Given the description of an element on the screen output the (x, y) to click on. 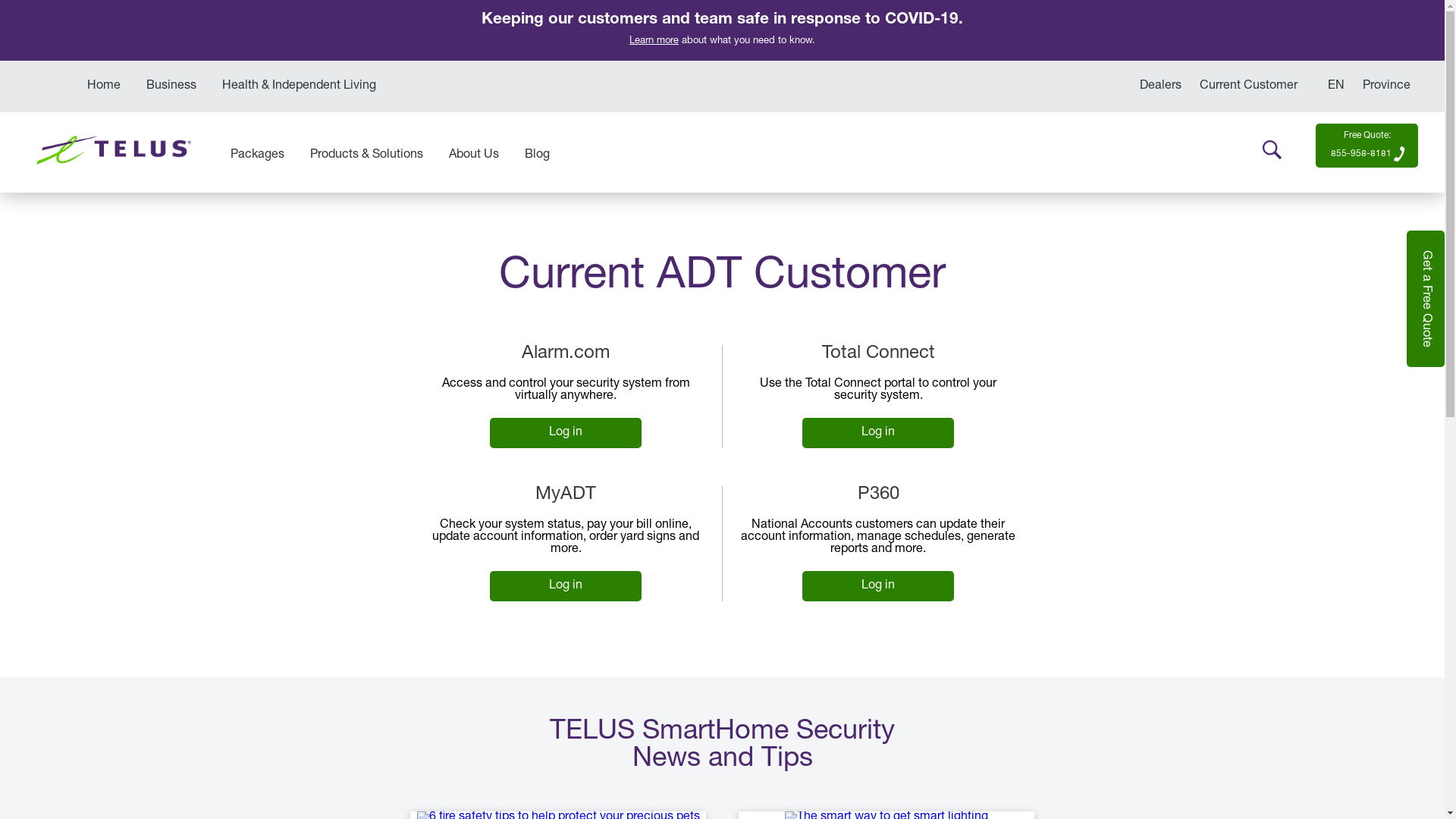
Log in Element type: text (877, 586)
0 Element type: text (1321, 451)
0 Element type: text (1321, 178)
TELUS Element type: hover (113, 170)
0 Element type: text (1321, 397)
0 Element type: text (1321, 369)
Blog Element type: text (536, 155)
Skip to main content Element type: text (0, 0)
Log in Element type: text (877, 432)
Free Quote:

855-958-8181 Element type: text (1362, 144)
Current Customer Element type: text (1248, 86)
0 Element type: text (1321, 233)
0 Element type: text (1321, 205)
Business Element type: text (171, 86)
Health & Independent Living Element type: text (299, 86)
Search Element type: text (1272, 150)
0 Element type: text (1321, 260)
0 Element type: text (1321, 151)
Products & Solutions Element type: text (366, 155)
Dealers Element type: text (1160, 86)
0 Element type: text (1321, 287)
0 Element type: text (1321, 315)
Packages Element type: text (257, 155)
Log in Element type: text (565, 432)
Home Element type: text (103, 86)
Learn more Element type: text (653, 41)
0 Element type: text (1321, 478)
About Us Element type: text (473, 155)
0 Element type: text (1321, 424)
0 Element type: text (1321, 342)
Log in Element type: text (565, 586)
